Given the description of an element on the screen output the (x, y) to click on. 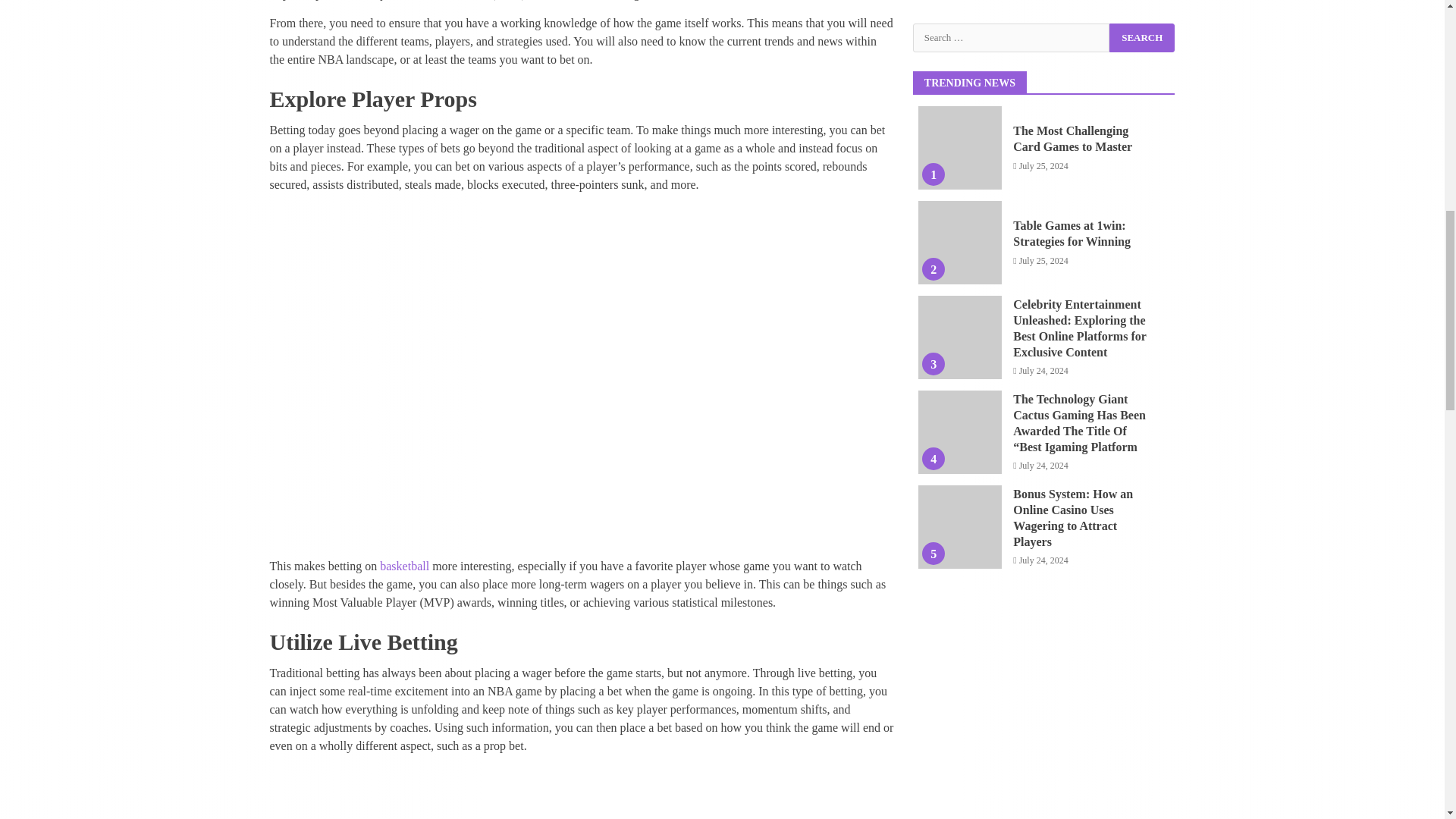
basketball (404, 565)
